Given the description of an element on the screen output the (x, y) to click on. 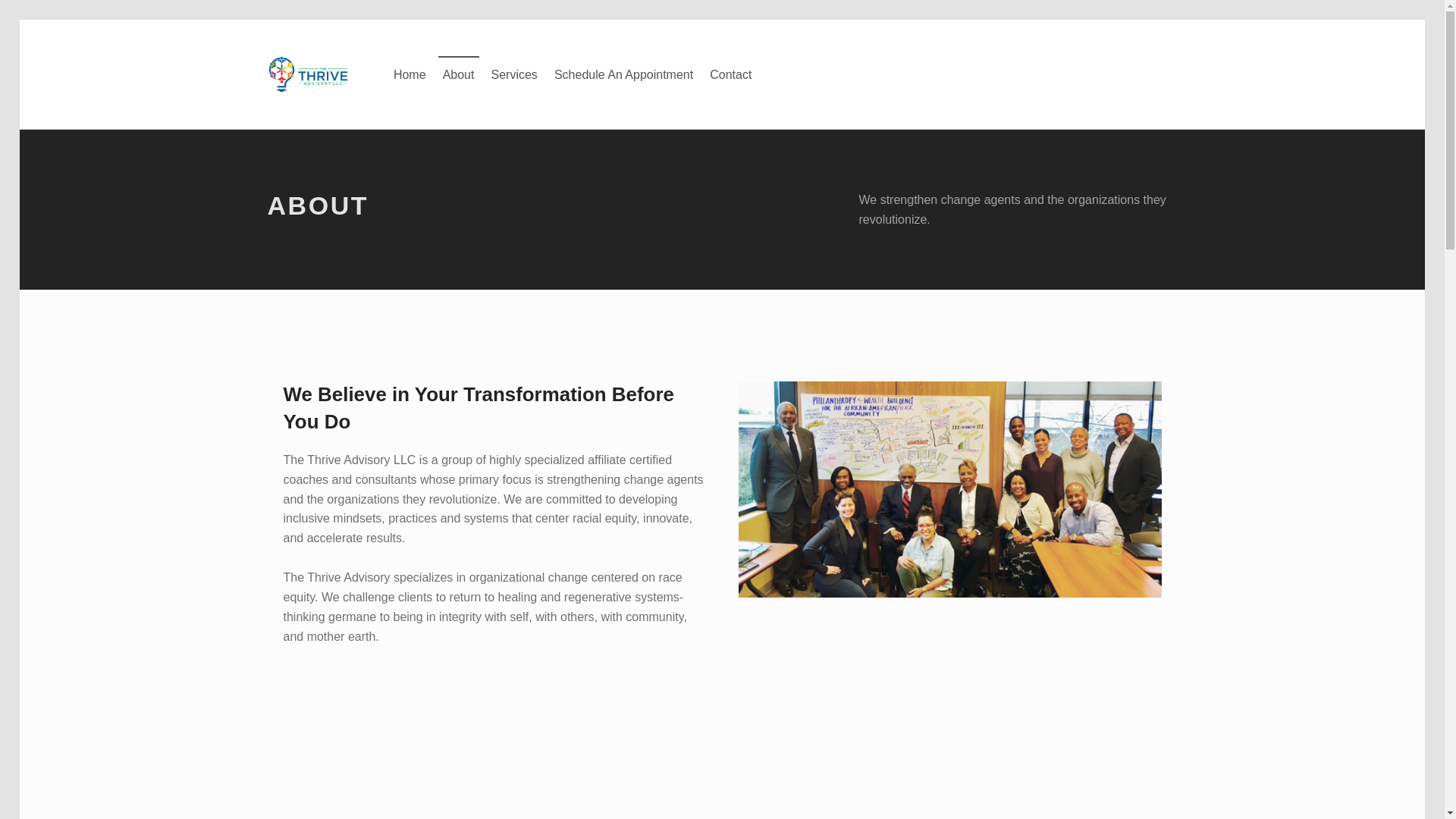
Contact (729, 74)
Home (409, 74)
Services (513, 74)
Schedule An Appointment (623, 74)
FullSizeRender (836, 748)
About (458, 74)
